Given the description of an element on the screen output the (x, y) to click on. 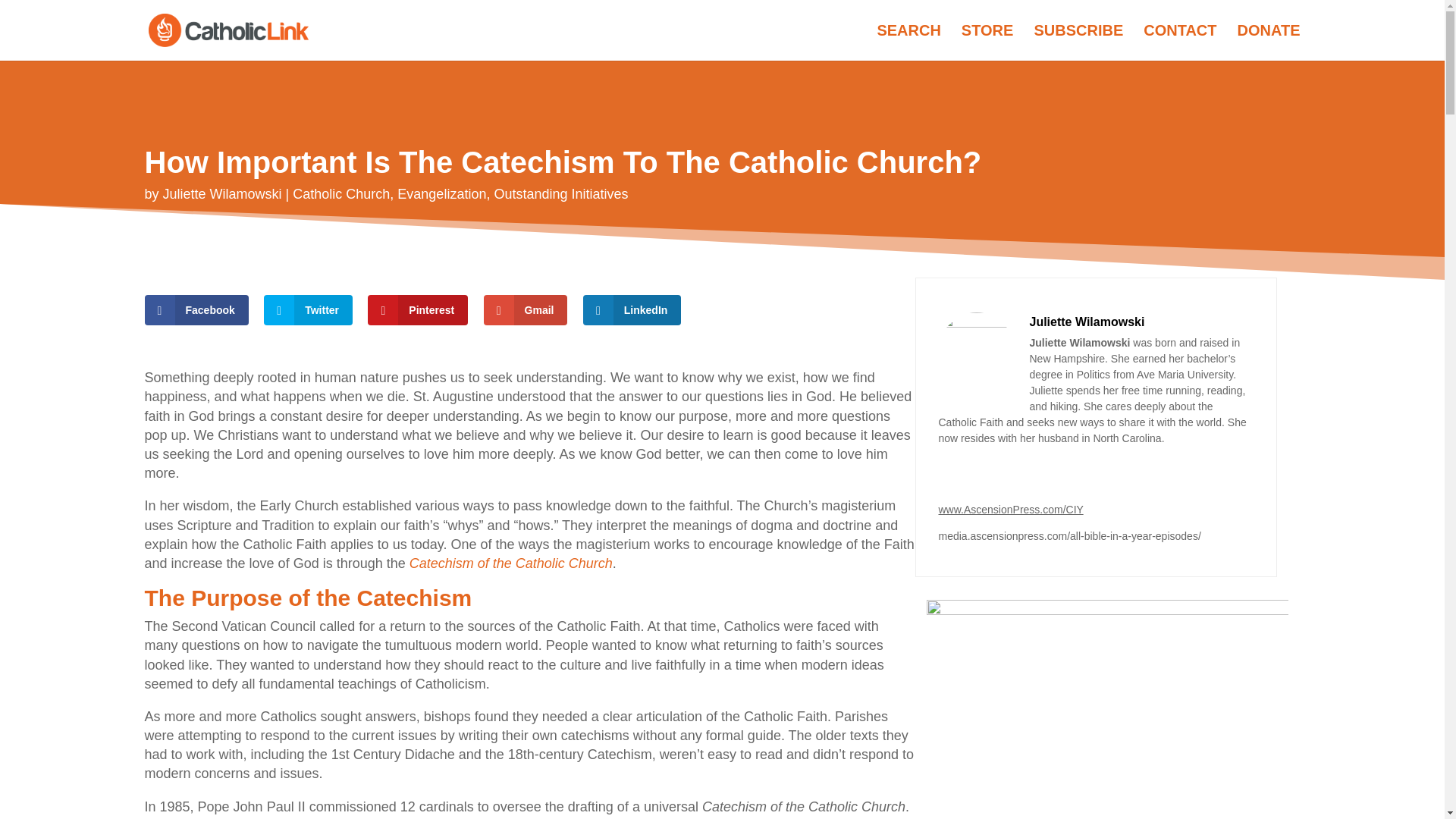
Catechism of the Catholic Church (510, 563)
Juliette Wilamowski (222, 193)
CONTACT (1178, 42)
Gmail (525, 309)
Posts by Juliette Wilamowski (222, 193)
SEARCH (908, 42)
Facebook (195, 309)
DONATE (1268, 42)
STORE (986, 42)
SUBSCRIBE (1077, 42)
